Given the description of an element on the screen output the (x, y) to click on. 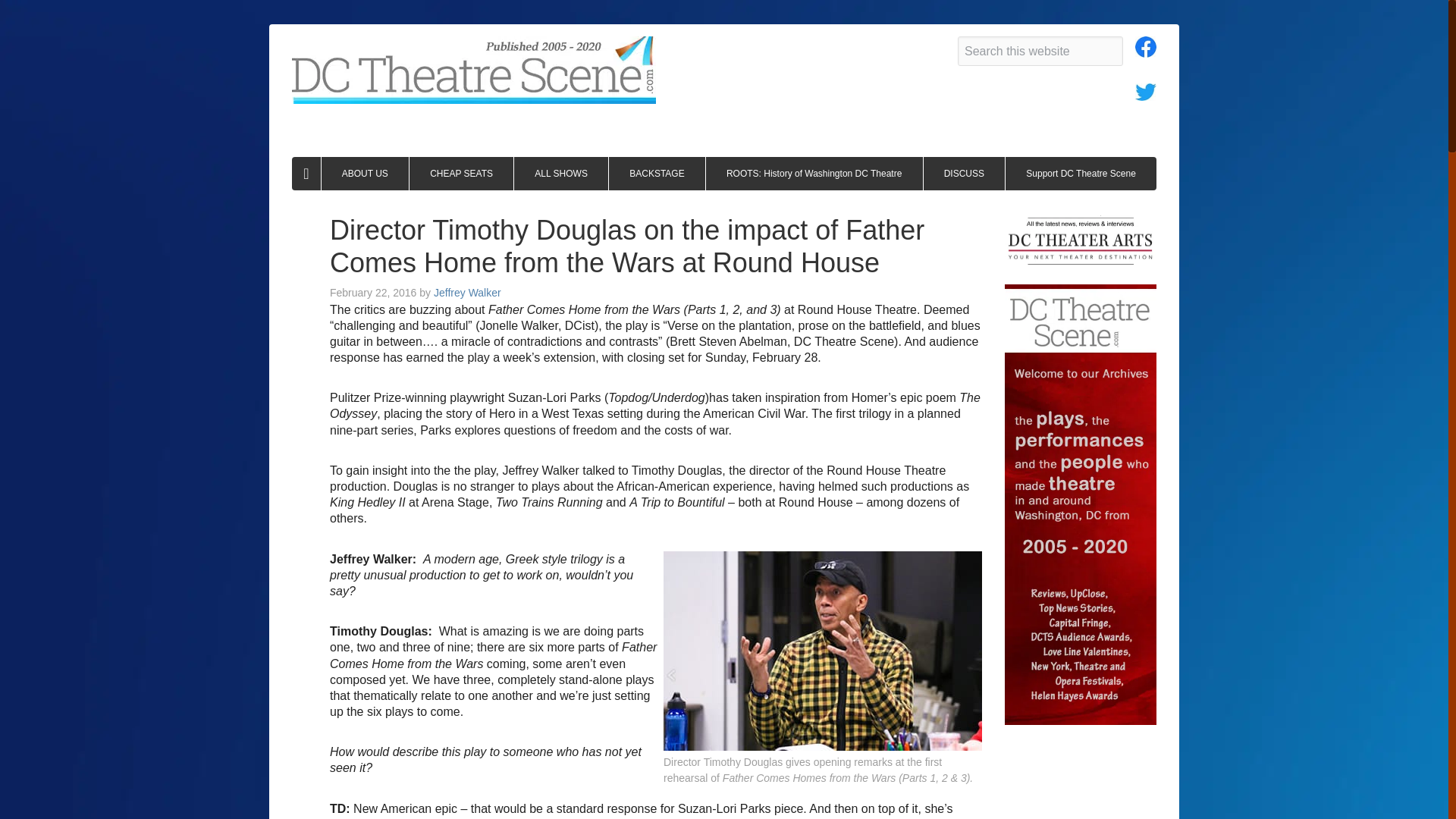
Follow DC Theatre Scene on Facebook (1145, 51)
Jeffrey Walker (466, 292)
BACKSTAGE (657, 173)
DC Theatre Scene (474, 70)
ROOTS: History of Washington DC Theatre (814, 173)
ALL SHOWS (560, 173)
Support DC Theatre Scene (1081, 173)
ABOUT US (365, 173)
DISCUSS (964, 173)
